Given the description of an element on the screen output the (x, y) to click on. 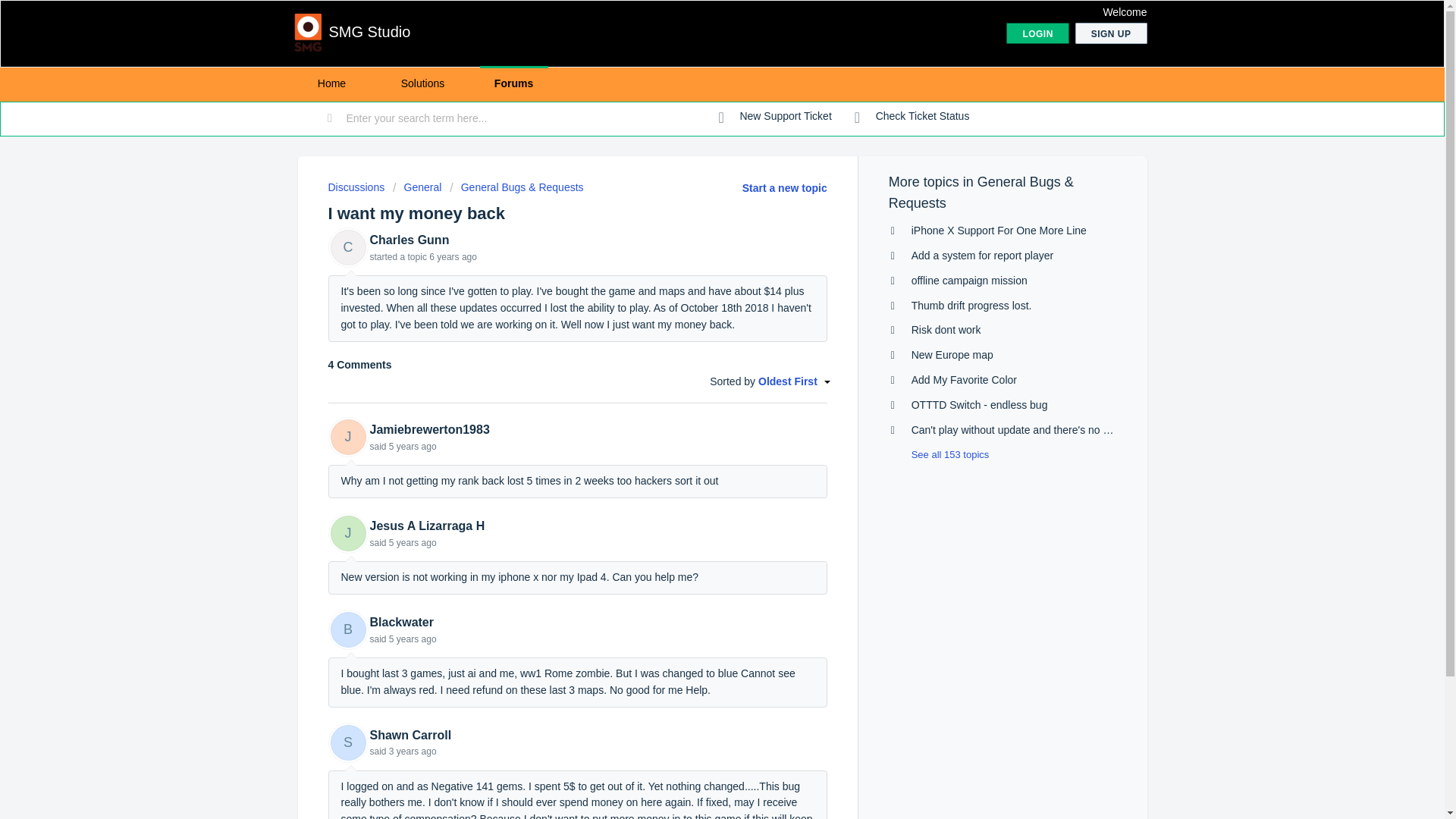
See all 153 topics (939, 454)
Start a new topic (784, 187)
Home (331, 83)
New Support Ticket (775, 116)
New Europe map (951, 354)
Thu, 4 Apr, 2019 at 11:48 AM (412, 446)
Solutions (422, 83)
Fri, 10 Dec, 2021 at  9:12 PM (412, 751)
Forums (513, 83)
See all 153 topics (939, 454)
Risk dont work (946, 329)
Check Ticket Status (911, 116)
iPhone X Support For One More Line (998, 230)
OTTTD Switch - endless bug (979, 404)
Start a new topic (784, 187)
